Given the description of an element on the screen output the (x, y) to click on. 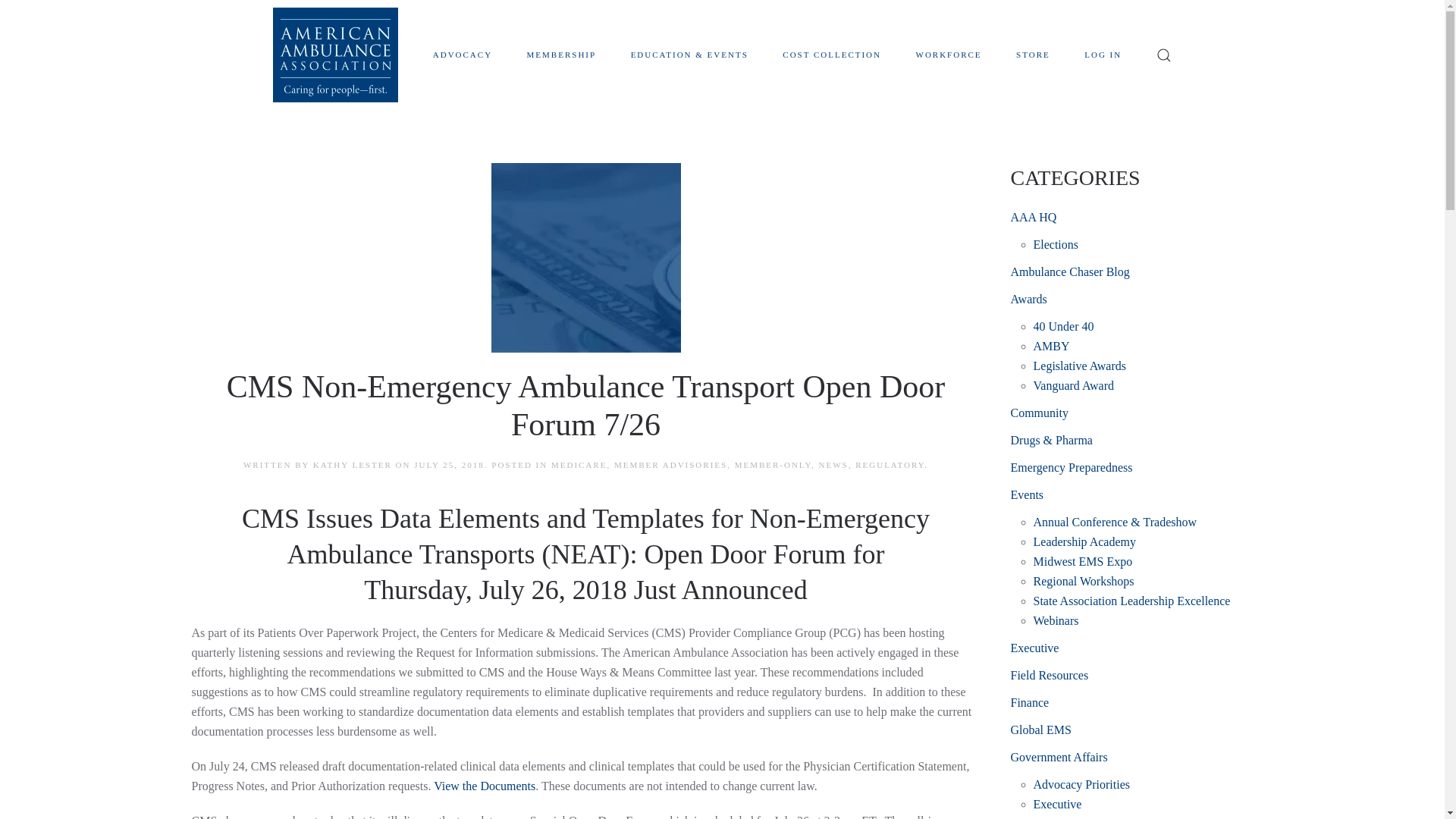
WORKFORCE (949, 54)
ADVOCACY (461, 54)
View the Documents (484, 785)
MEMBER ADVISORIES (670, 464)
KATHY LESTER (352, 464)
MEDICARE (579, 464)
MEMBER-ONLY (772, 464)
REGULATORY (890, 464)
COST COLLECTION (831, 54)
NEWS (833, 464)
